Given the description of an element on the screen output the (x, y) to click on. 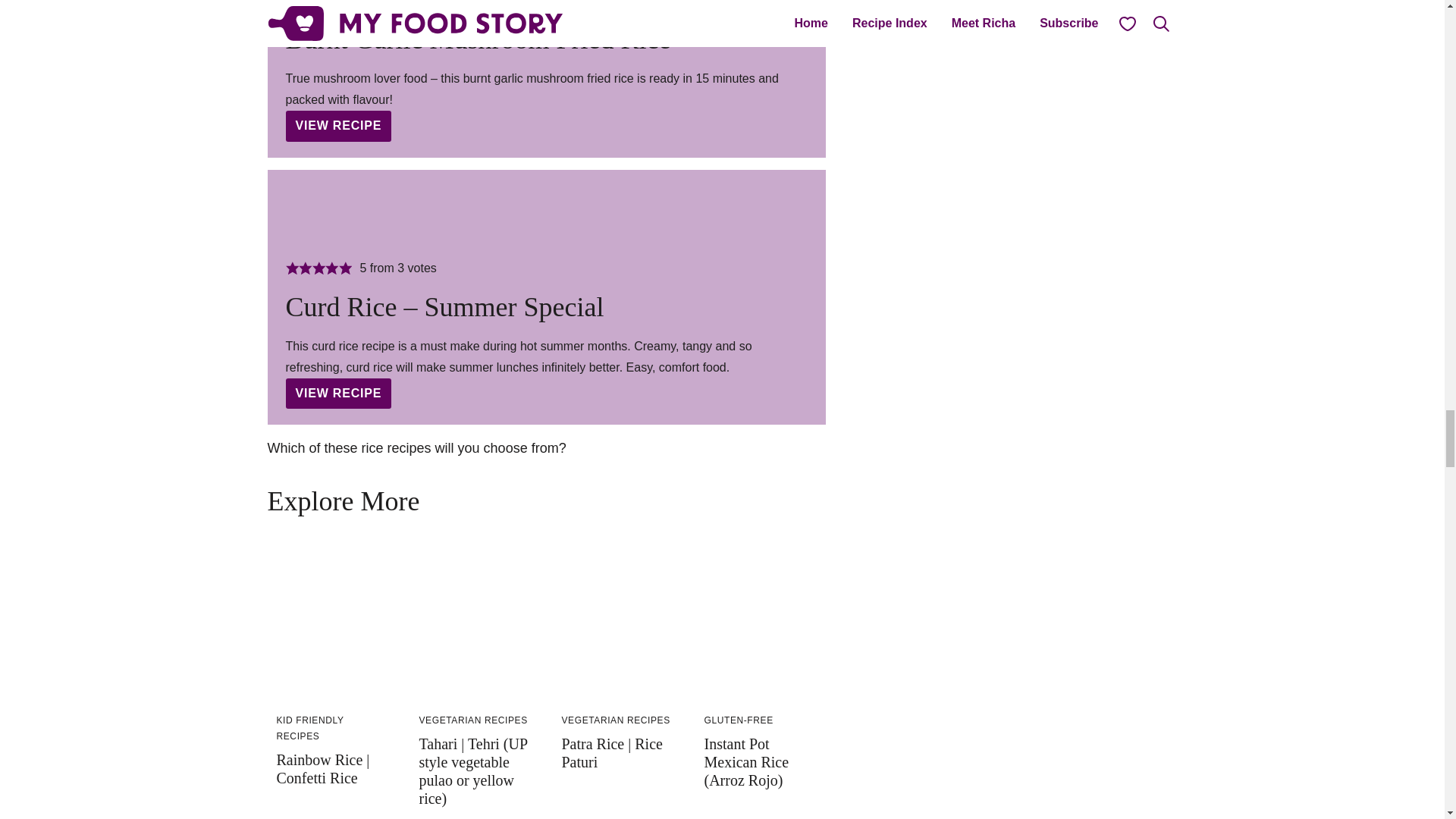
VIEW RECIPE (338, 125)
VIEW RECIPE (338, 393)
